Given the description of an element on the screen output the (x, y) to click on. 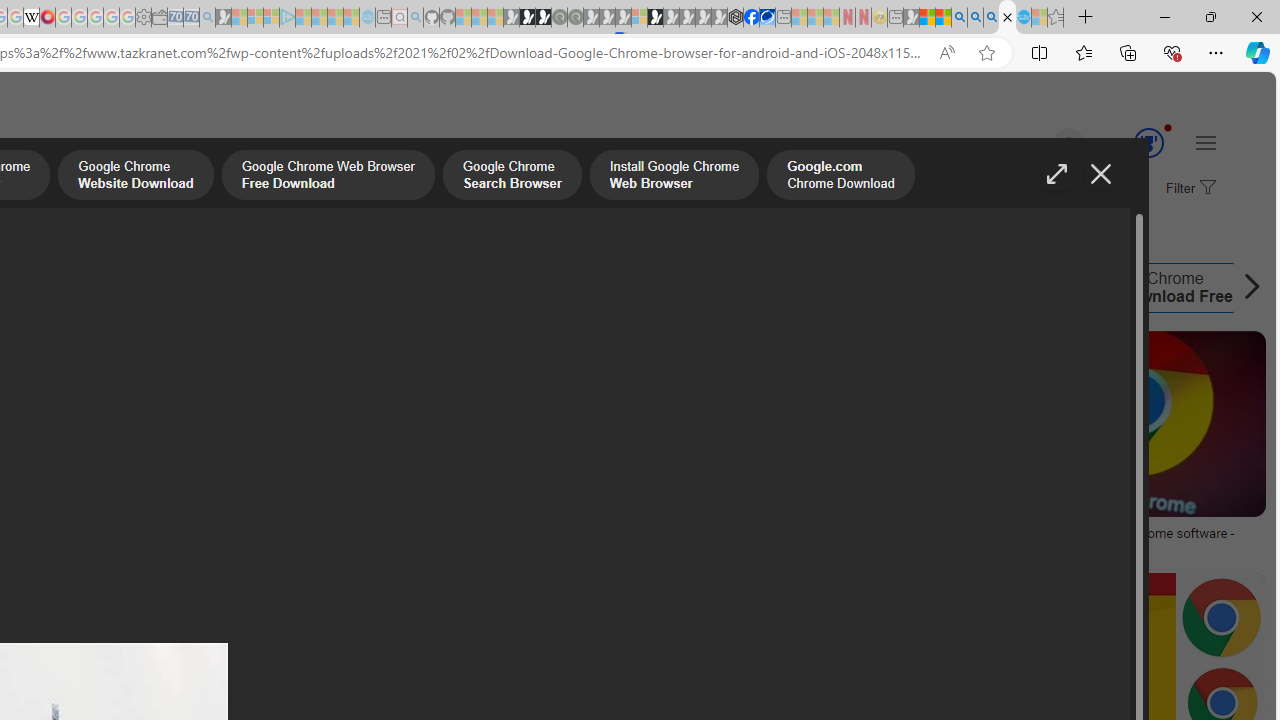
How to update google chrome software - angelbap (1128, 541)
New tab - Sleeping (895, 17)
Sign in to your account - Sleeping (639, 17)
Google Chrome for Download (865, 287)
github - Search - Sleeping (415, 17)
How to download & install Chrome on Windows 10 /11 (470, 533)
wizardsgase - Blog (174, 533)
Google Chrome Internet Browser Download - Search Images (1007, 17)
